Given the description of an element on the screen output the (x, y) to click on. 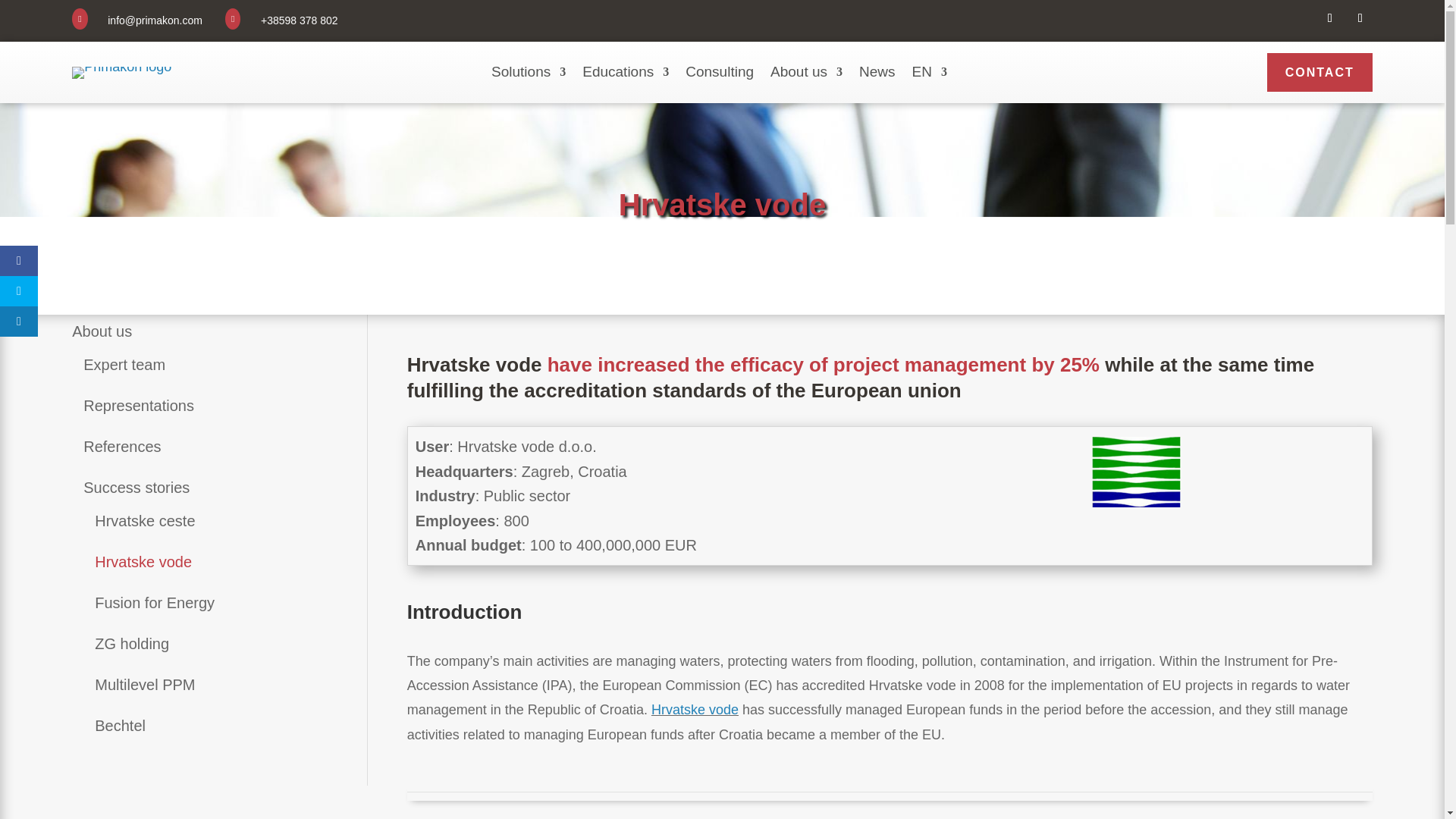
Primakon logo (121, 72)
Consulting (719, 75)
News (877, 75)
EN (929, 75)
Hrvatske vode small logo (1136, 496)
Follow on Facebook (1329, 17)
About us (806, 75)
Follow on LinkedIn (1360, 17)
Educations (625, 75)
CONTACT (1319, 72)
